Given the description of an element on the screen output the (x, y) to click on. 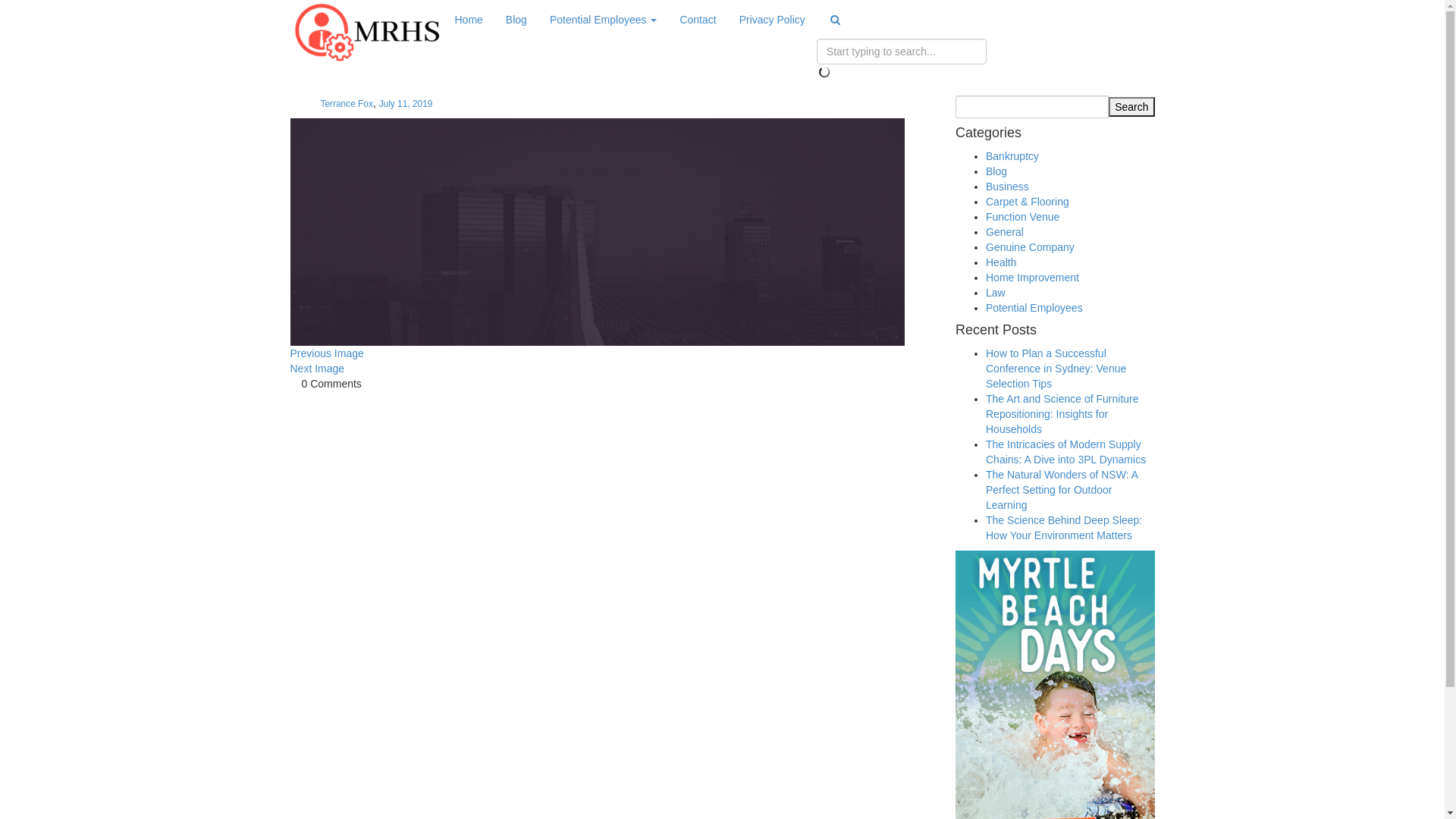
Home Improvement Element type: text (1032, 277)
Blog Element type: text (996, 171)
Law Element type: text (995, 292)
Bankruptcy Element type: text (1011, 156)
July 11, 2019 Element type: text (406, 103)
General Element type: text (1004, 231)
Potential Employees Element type: text (603, 19)
Terrance Fox Element type: text (346, 103)
Function Venue Element type: text (1022, 216)
Previous Image Element type: text (610, 352)
MRHS Element type: hover (365, 31)
Contact Element type: text (697, 19)
Blog Element type: text (516, 19)
Carpet & Flooring Element type: text (1027, 201)
Search Element type: text (1131, 106)
Potential Employees Element type: text (1033, 307)
Business Element type: text (1007, 186)
Home Element type: text (467, 19)
Health Element type: text (1000, 262)
Next Image Element type: text (610, 368)
Genuine Company Element type: text (1029, 247)
The Science Behind Deep Sleep: How Your Environment Matters Element type: text (1063, 527)
Privacy Policy Element type: text (772, 19)
